Given the description of an element on the screen output the (x, y) to click on. 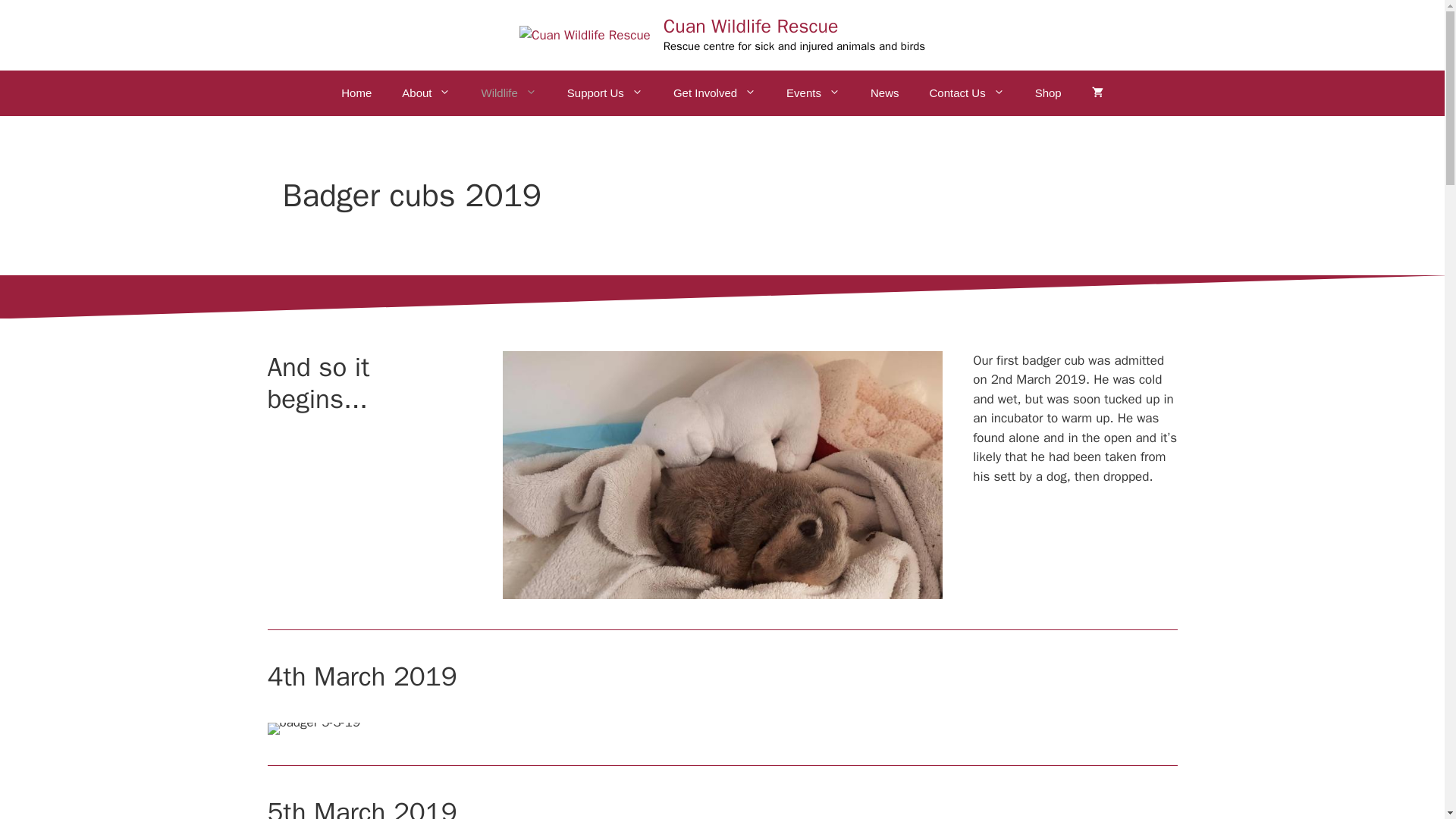
Cuan Wildlife Rescue (750, 25)
View your shopping cart (1097, 92)
badger 5-3-19 (312, 728)
Badger-3-3-19 (722, 474)
